Given the description of an element on the screen output the (x, y) to click on. 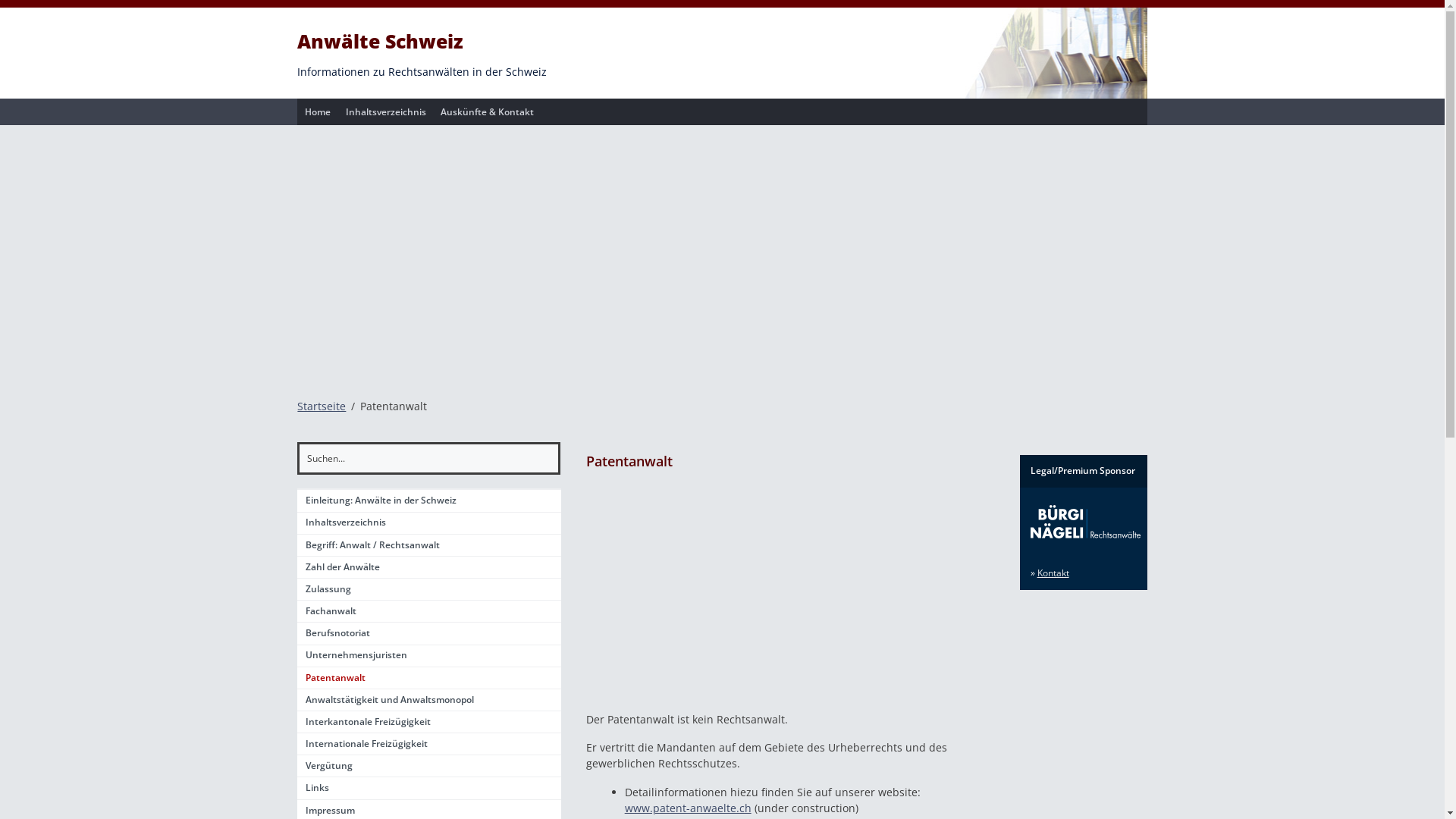
Home Element type: text (317, 111)
Kontakt Element type: text (1053, 572)
www.patent-anwaelte.ch Element type: text (687, 807)
Links Element type: text (428, 788)
Advertisement Element type: hover (722, 253)
Unternehmensjuristen Element type: text (428, 656)
Inhaltsverzeichnis Element type: text (385, 111)
Berufsnotoriat Element type: text (428, 633)
Fachanwalt Element type: text (428, 611)
Patentanwalt Element type: text (428, 678)
Startseite Element type: text (321, 405)
Inhaltsverzeichnis Element type: text (428, 523)
Begriff: Anwalt / Rechtsanwalt Element type: text (428, 545)
Advertisement Element type: hover (790, 595)
Zulassung Element type: text (428, 589)
